Given the description of an element on the screen output the (x, y) to click on. 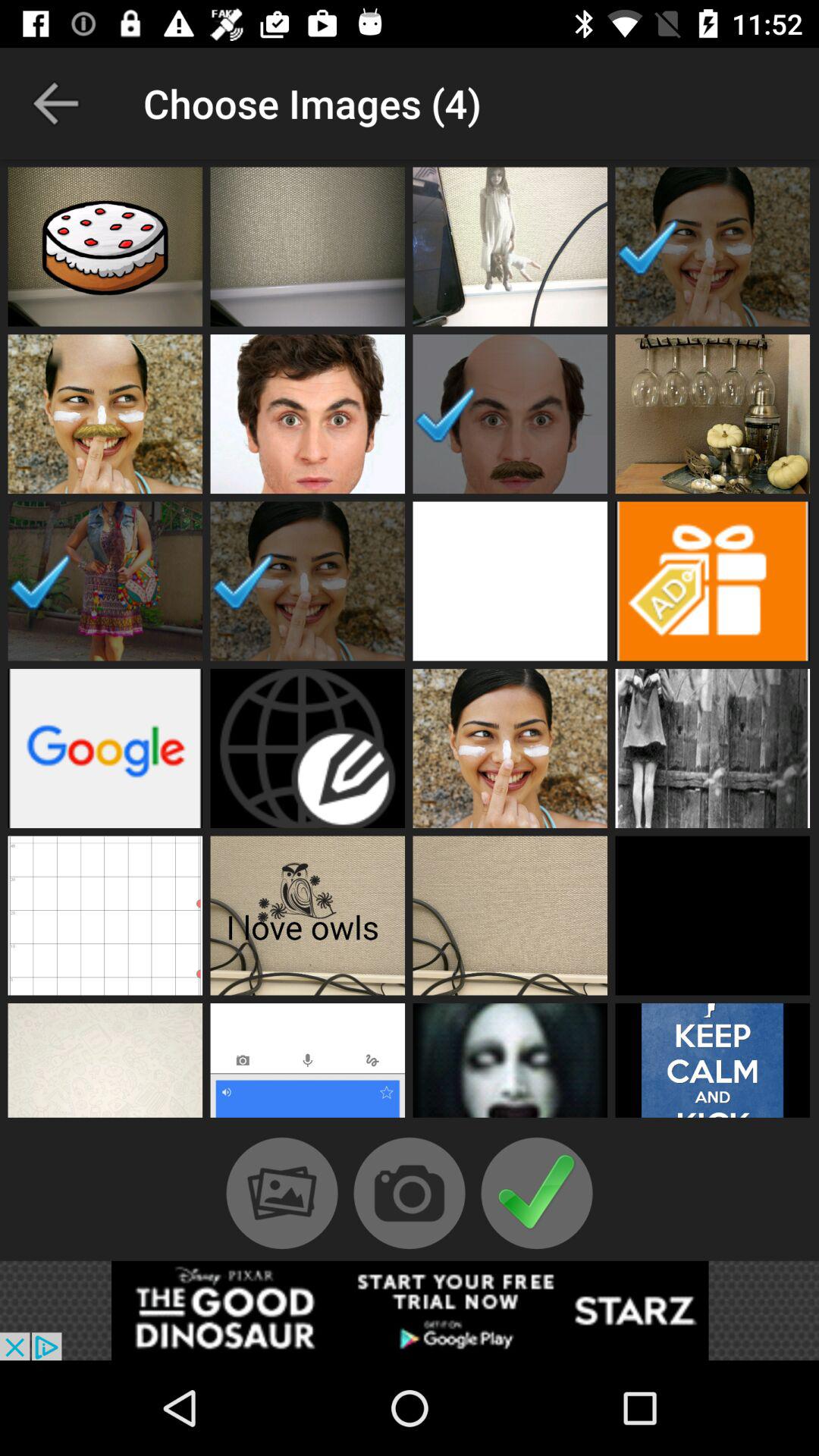
open profile (104, 413)
